Given the description of an element on the screen output the (x, y) to click on. 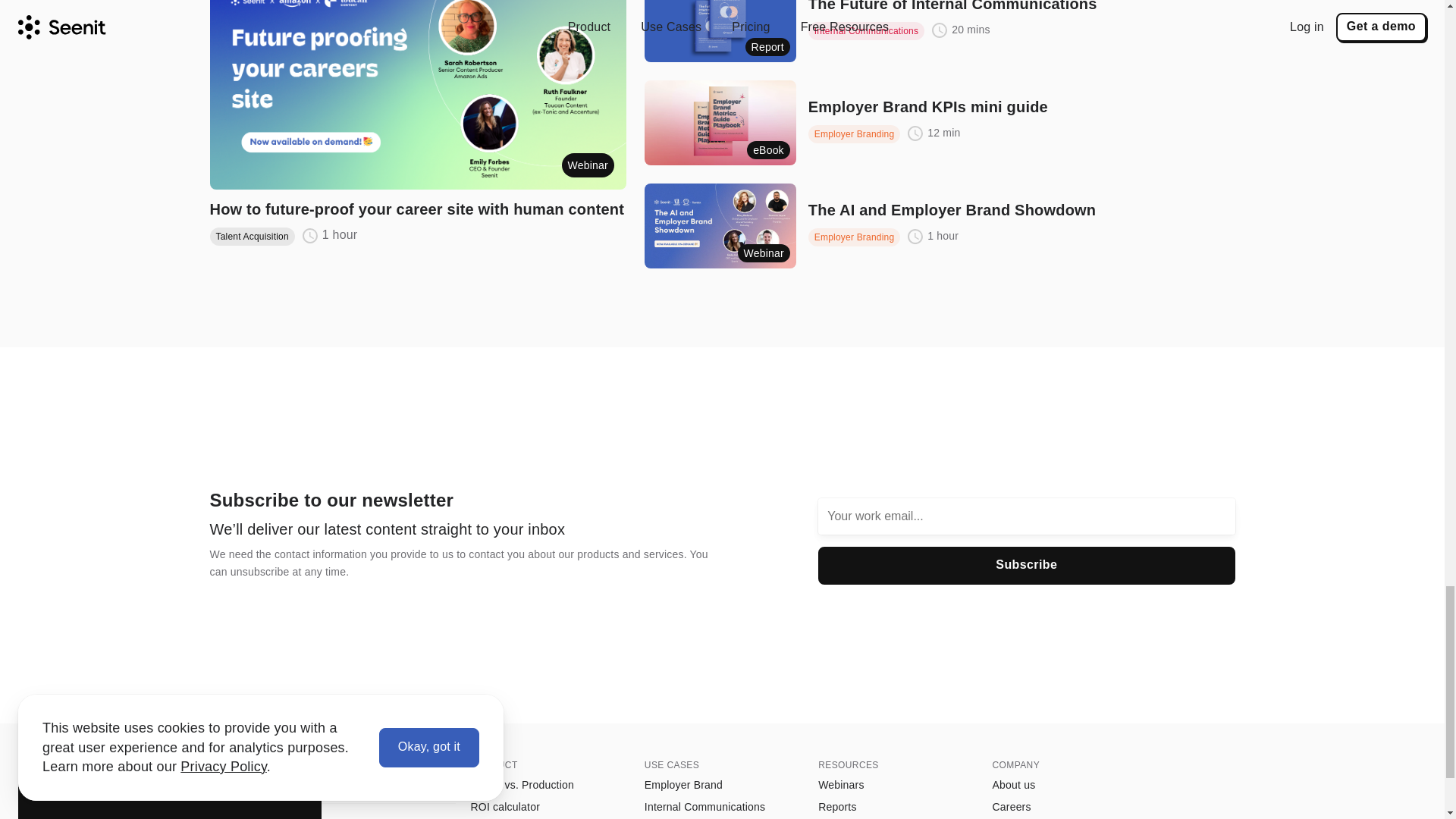
Internal Communications (866, 30)
Report (720, 31)
eBook (720, 122)
How to future-proof your career site with human content (417, 209)
Subscribe (1026, 565)
The Future of Internal Communications (952, 7)
Webinar (417, 94)
Talent Acquisition (251, 235)
